Given the description of an element on the screen output the (x, y) to click on. 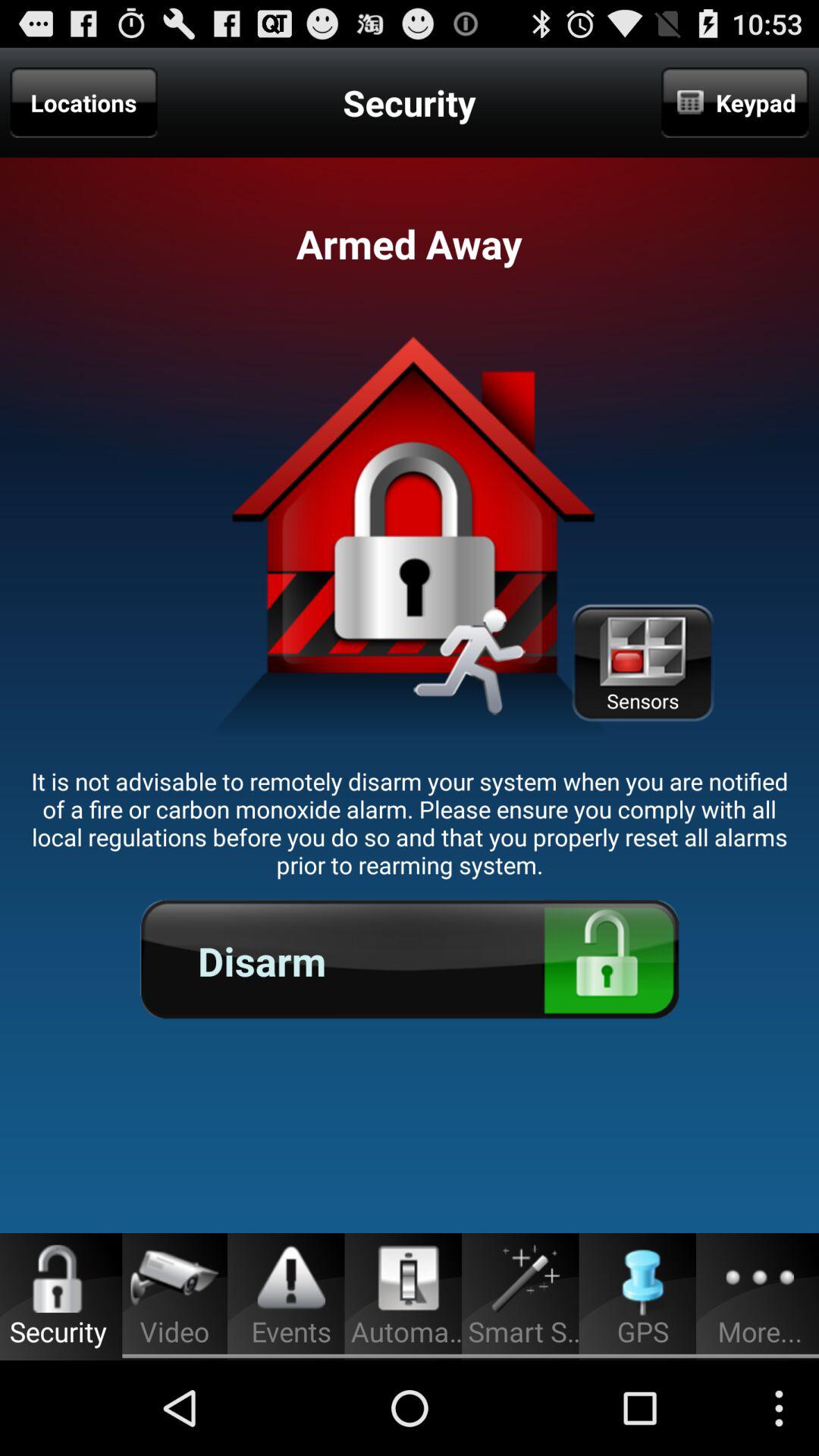
select the keypad at the top right corner (734, 102)
